Given the description of an element on the screen output the (x, y) to click on. 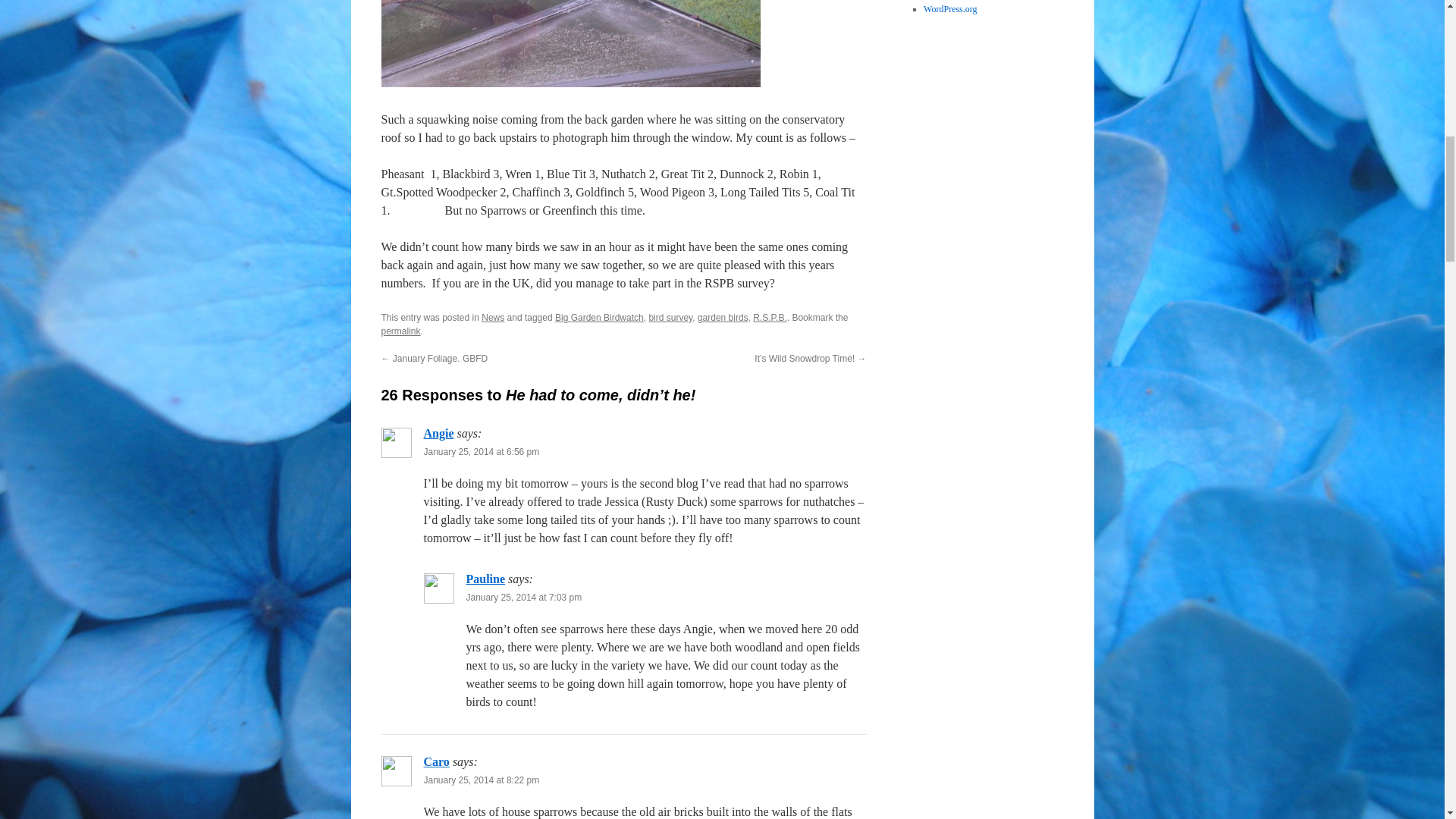
News (492, 317)
January 25, 2014 at 8:22 pm (480, 779)
bird survey (670, 317)
January 25, 2014 at 6:56 pm (480, 451)
Pauline (485, 578)
Big Garden Birdwatch (598, 317)
Angie (437, 432)
permalink (400, 330)
garden birds (722, 317)
R.S.P.B. (769, 317)
January 25, 2014 at 7:03 pm (522, 597)
Caro (435, 761)
